Given the description of an element on the screen output the (x, y) to click on. 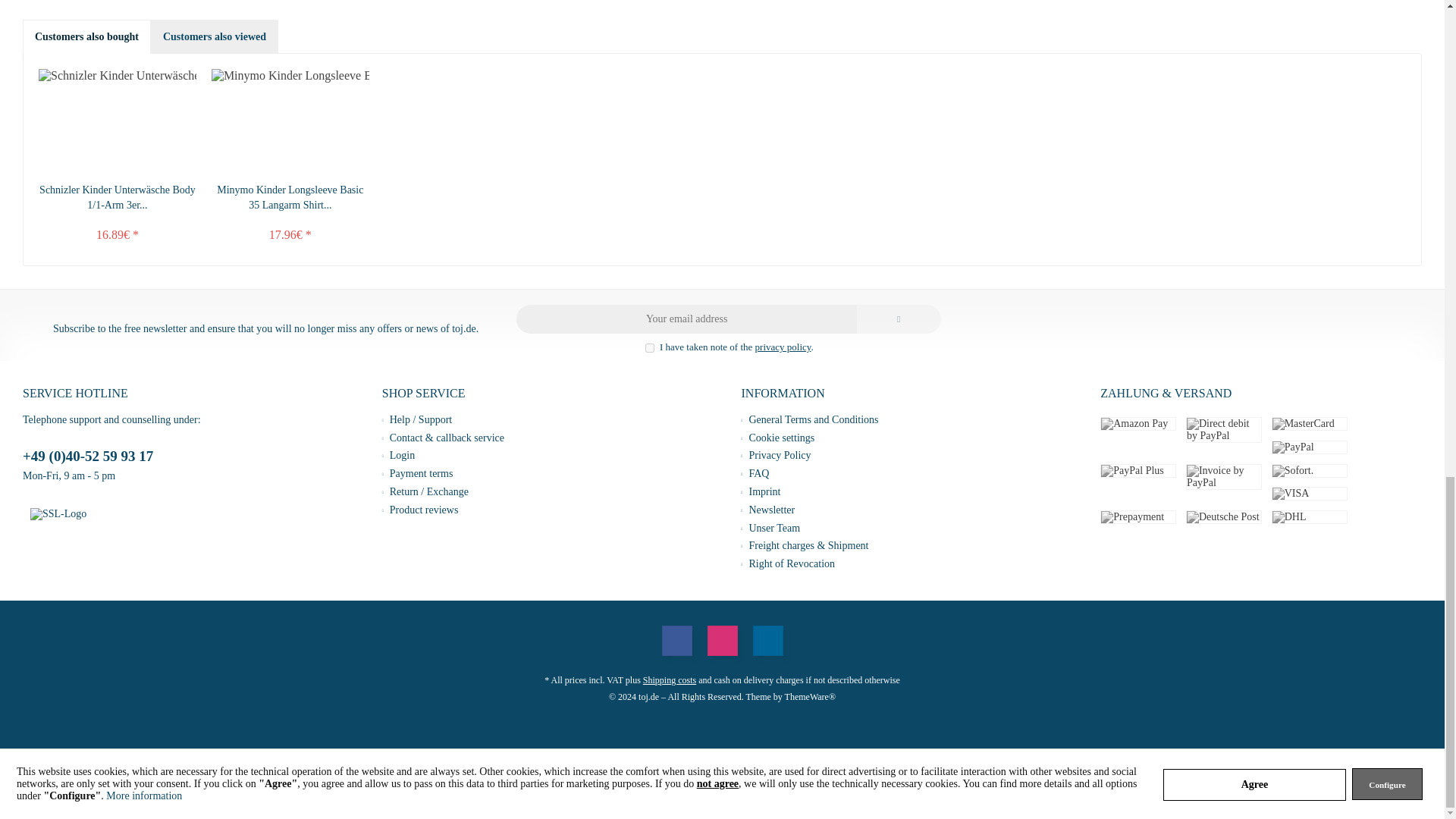
on (649, 347)
